Given the description of an element on the screen output the (x, y) to click on. 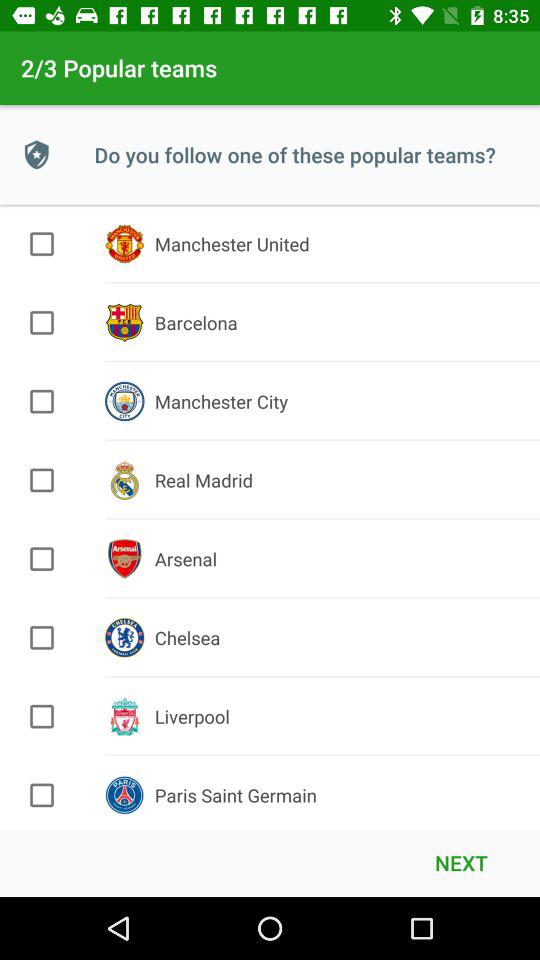
select team (42, 244)
